Given the description of an element on the screen output the (x, y) to click on. 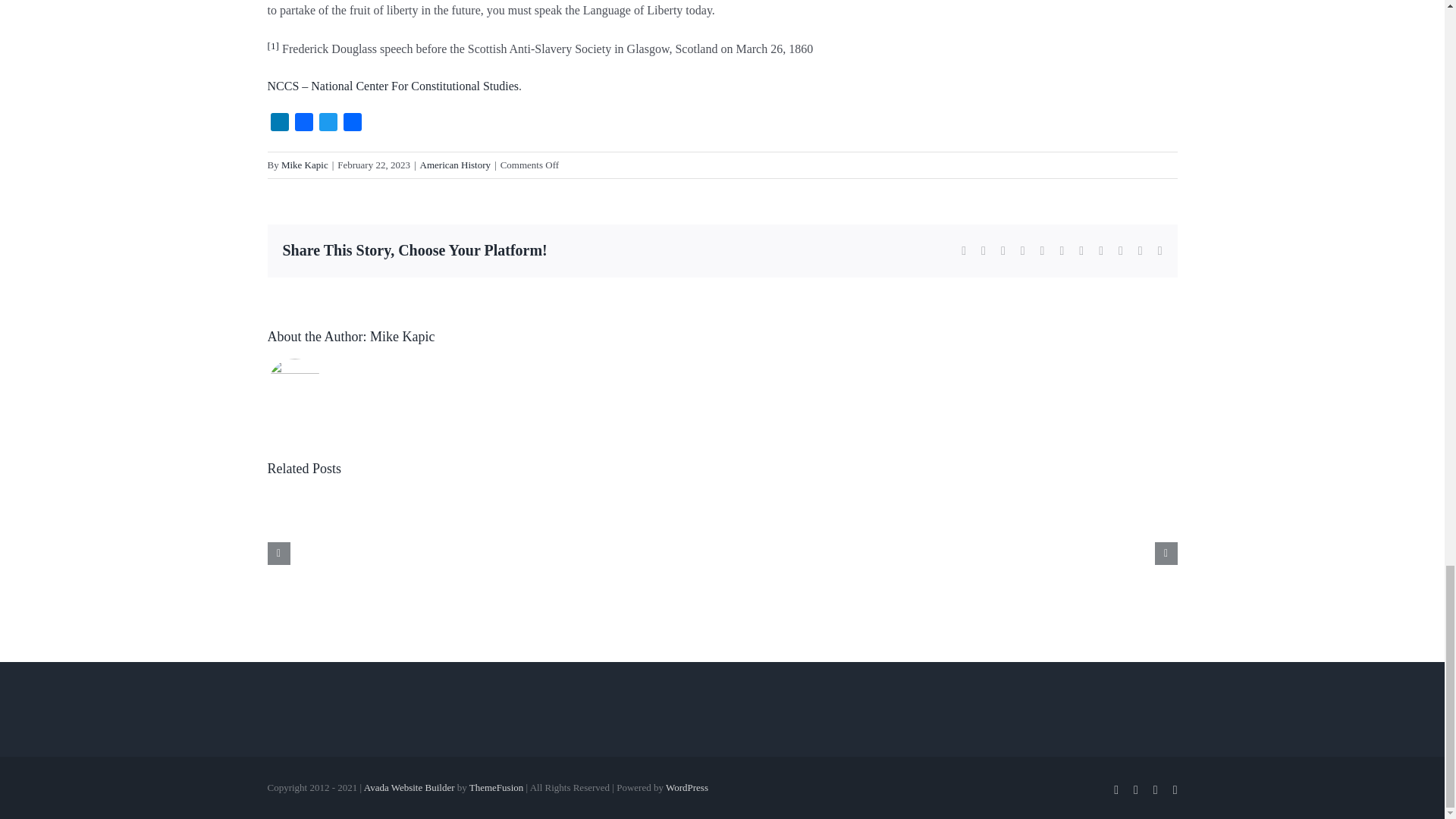
Facebook (303, 124)
American History (456, 164)
Twitter (327, 124)
Posts by Mike Kapic (305, 164)
Mike Kapic (305, 164)
LinkedIn (278, 124)
Twitter (327, 124)
LinkedIn (278, 124)
Mike Kapic (401, 336)
Posts by Mike Kapic (401, 336)
